Given the description of an element on the screen output the (x, y) to click on. 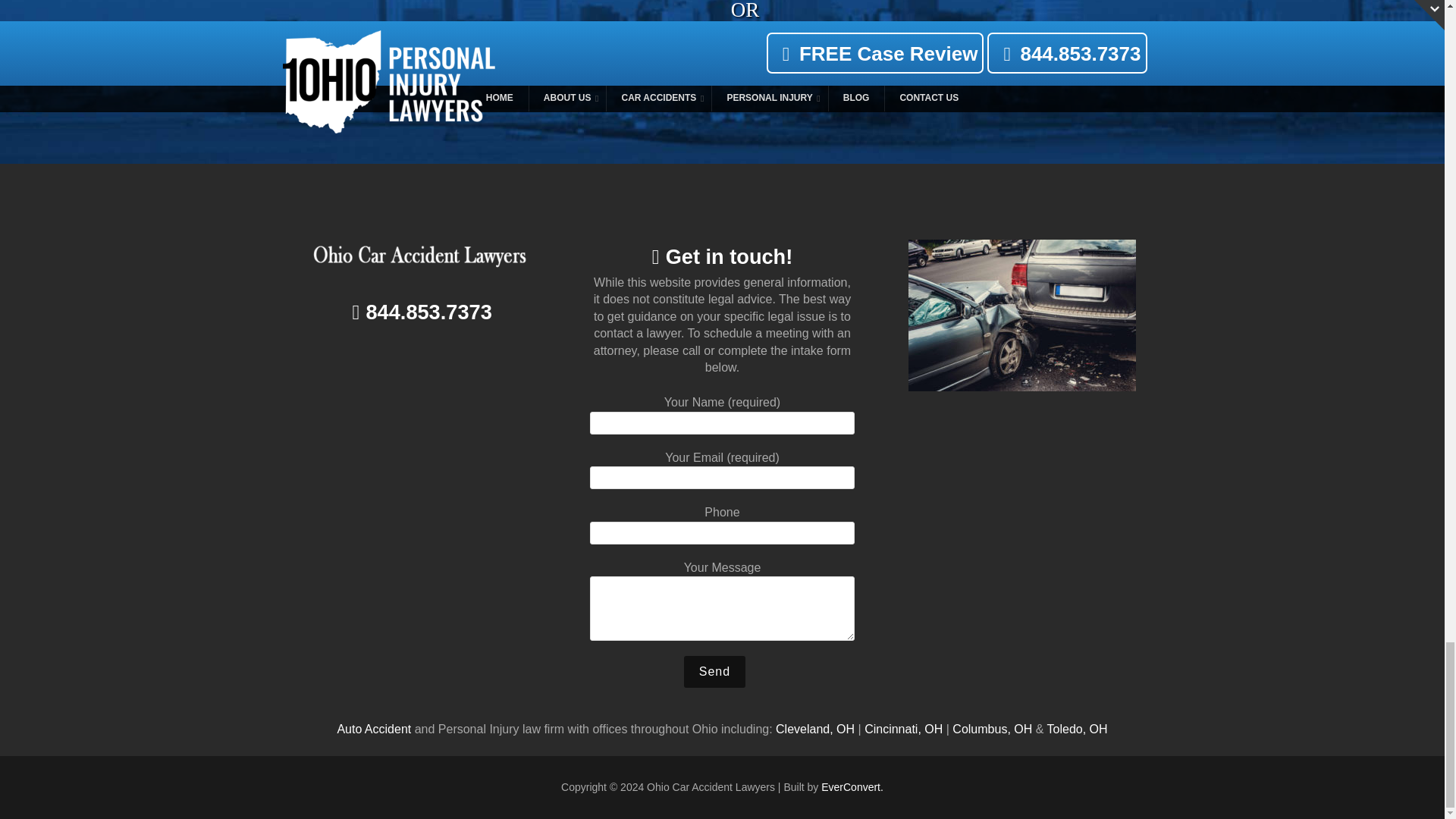
Send (714, 671)
